Given the description of an element on the screen output the (x, y) to click on. 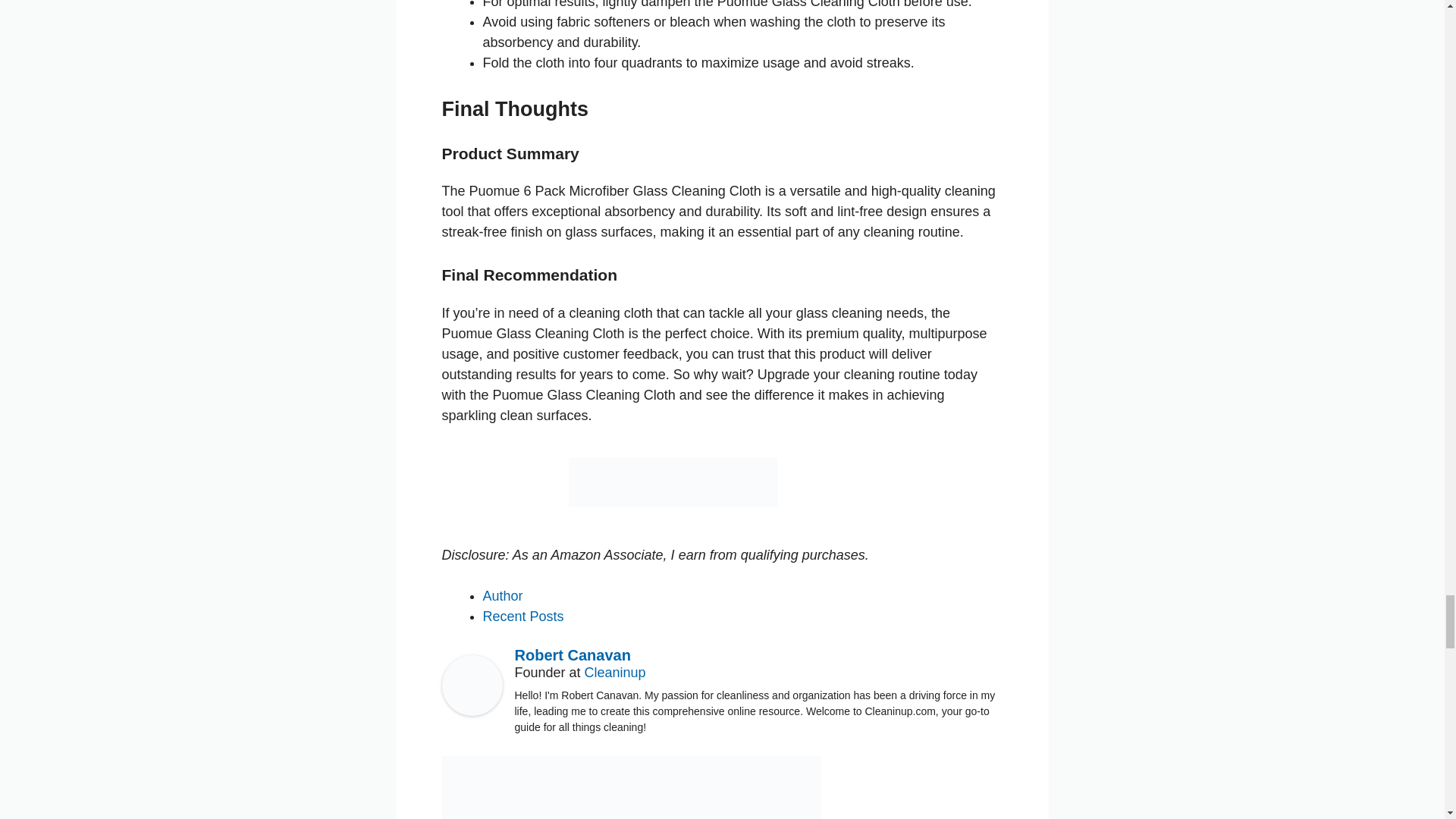
Robert Canavan (571, 655)
Recent Posts (522, 616)
Robert Canavan (471, 711)
Author (501, 595)
Cleaninup (615, 672)
